Given the description of an element on the screen output the (x, y) to click on. 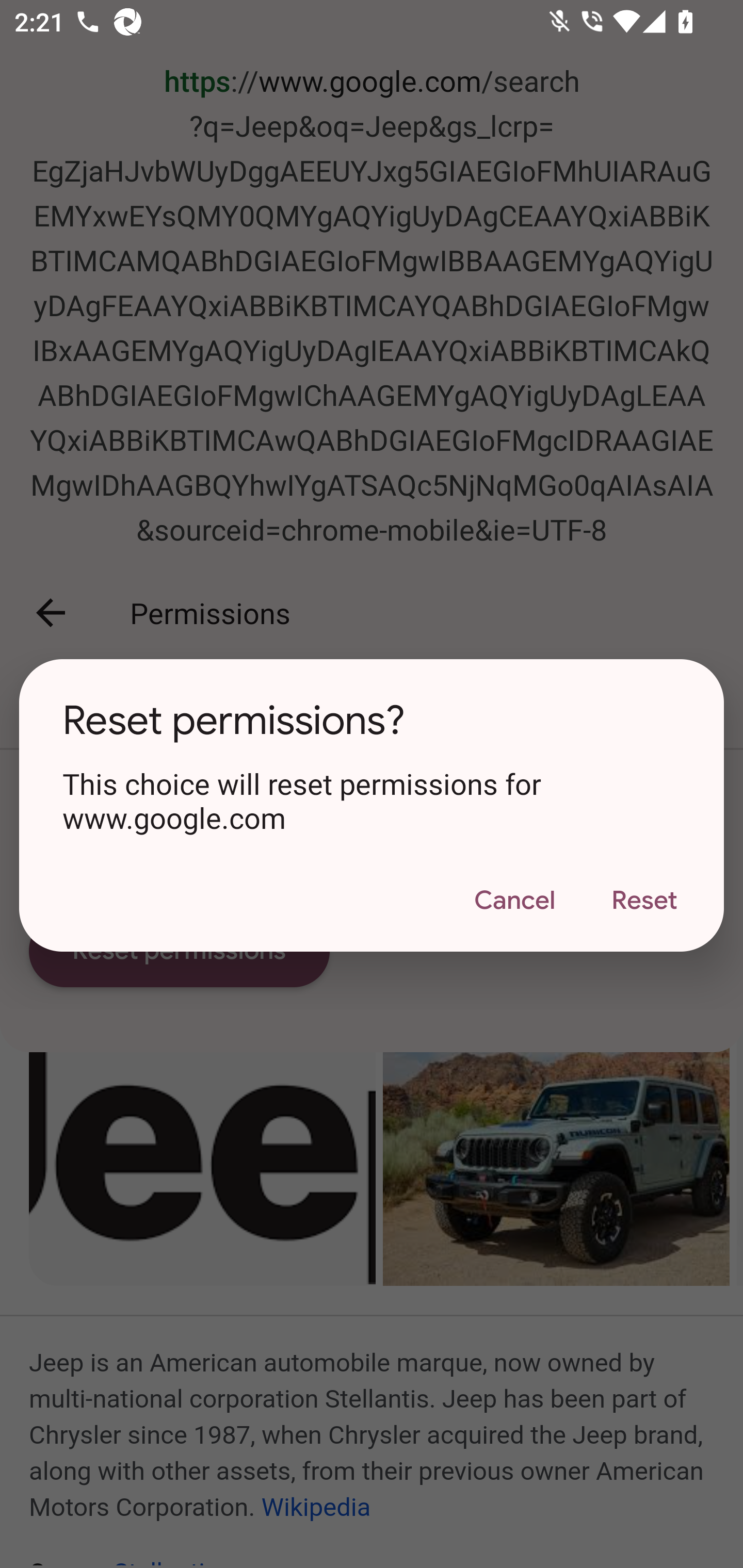
Cancel (514, 900)
Reset (644, 900)
